Given the description of an element on the screen output the (x, y) to click on. 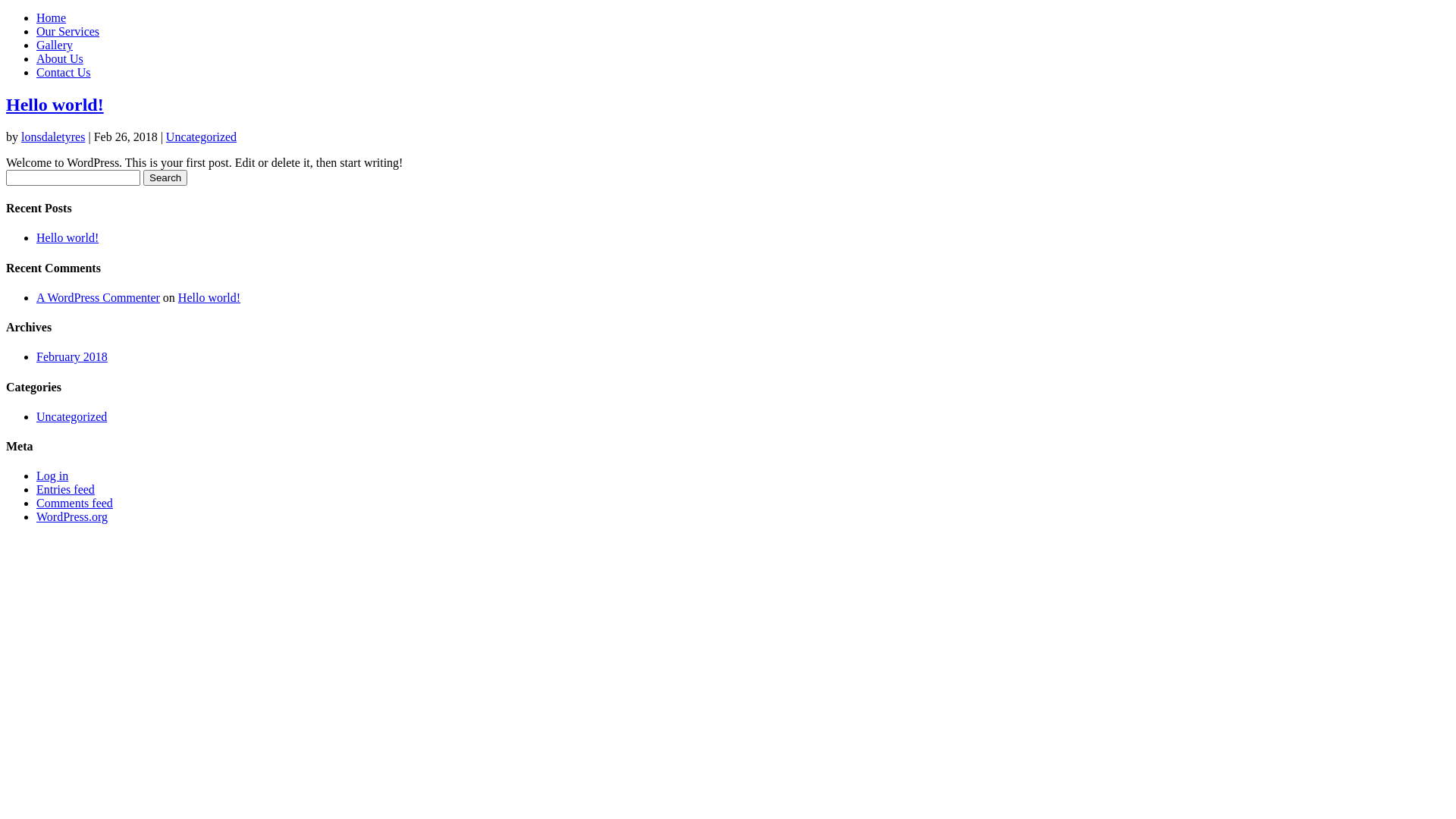
February 2018 Element type: text (71, 356)
Home Element type: text (50, 17)
Uncategorized Element type: text (201, 136)
WordPress.org Element type: text (71, 516)
Log in Element type: text (52, 475)
Hello world! Element type: text (54, 104)
A WordPress Commenter Element type: text (98, 297)
Comments feed Element type: text (74, 502)
Our Services Element type: text (67, 31)
lonsdaletyres Element type: text (52, 136)
Search Element type: text (165, 177)
Hello world! Element type: text (67, 237)
Entries feed Element type: text (65, 489)
Hello world! Element type: text (209, 297)
Gallery Element type: text (54, 44)
Uncategorized Element type: text (71, 416)
About Us Element type: text (59, 58)
Contact Us Element type: text (63, 71)
